Given the description of an element on the screen output the (x, y) to click on. 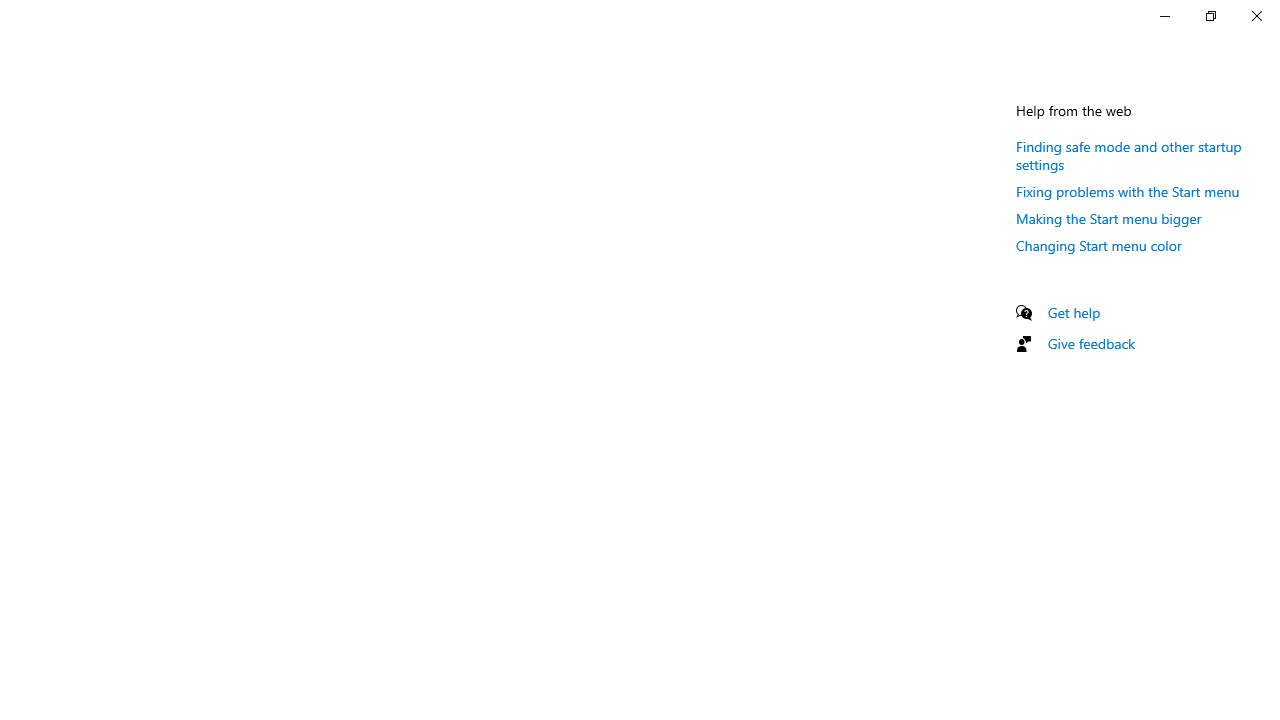
Get help (1074, 312)
Minimize Settings (1164, 15)
Finding safe mode and other startup settings (1128, 155)
Changing Start menu color (1098, 245)
Fixing problems with the Start menu (1128, 191)
Restore Settings (1210, 15)
Close Settings (1256, 15)
Making the Start menu bigger (1108, 218)
Give feedback (1091, 343)
